Given the description of an element on the screen output the (x, y) to click on. 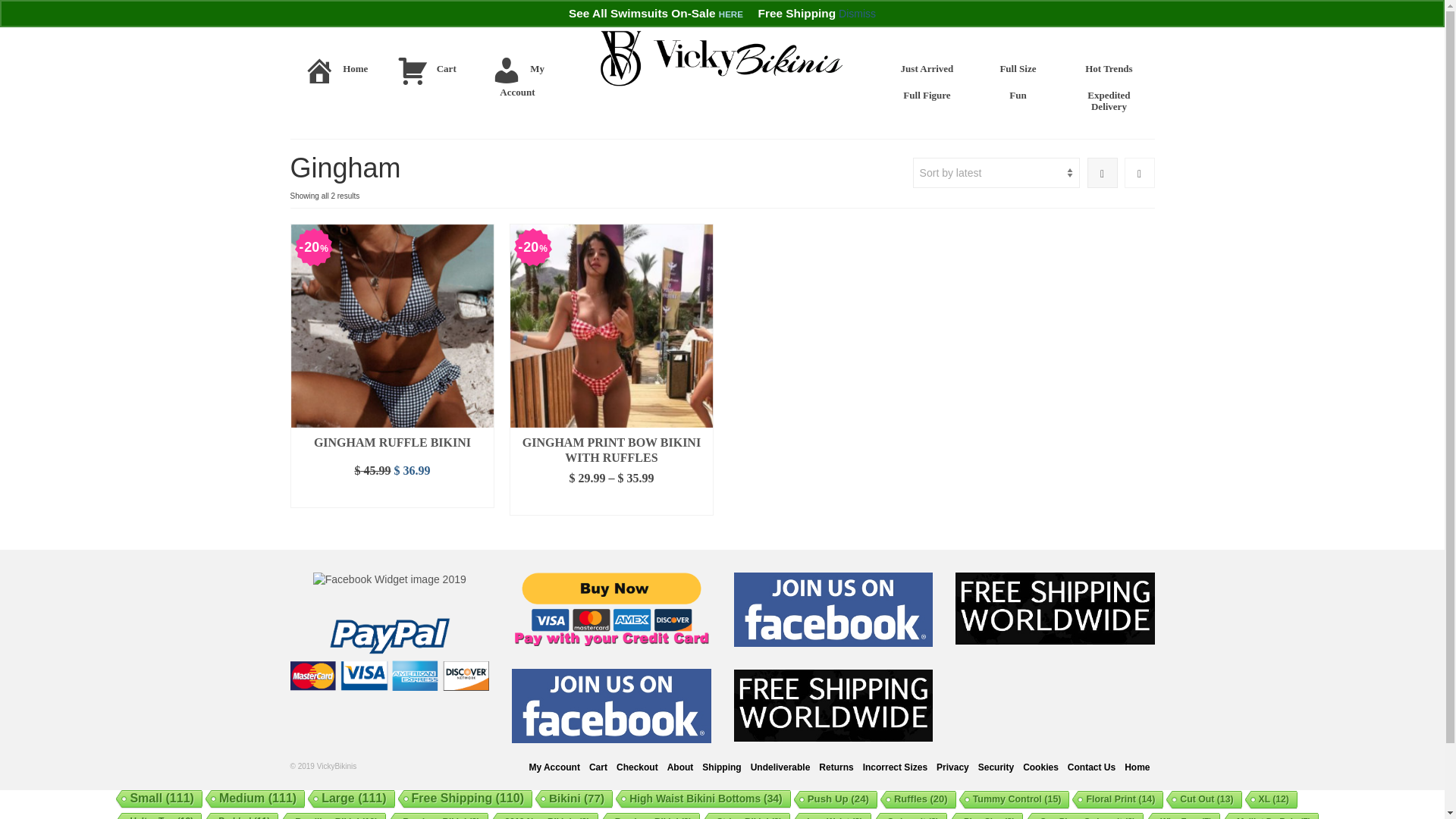
Incorrect Sizes (895, 767)
Contact Us (1090, 767)
SELECT OPTIONS (393, 495)
Cookies (1039, 767)
Full Size (1017, 68)
Fun (1017, 94)
About (680, 767)
GINGHAM PRINT BOW BIKINI WITH RUFFLES (611, 446)
Cart (425, 74)
Returns (835, 767)
Just Arrived (926, 68)
Hot Trends (1108, 68)
SELECT OPTIONS (611, 503)
Home (334, 74)
Shipping (721, 767)
